Given the description of an element on the screen output the (x, y) to click on. 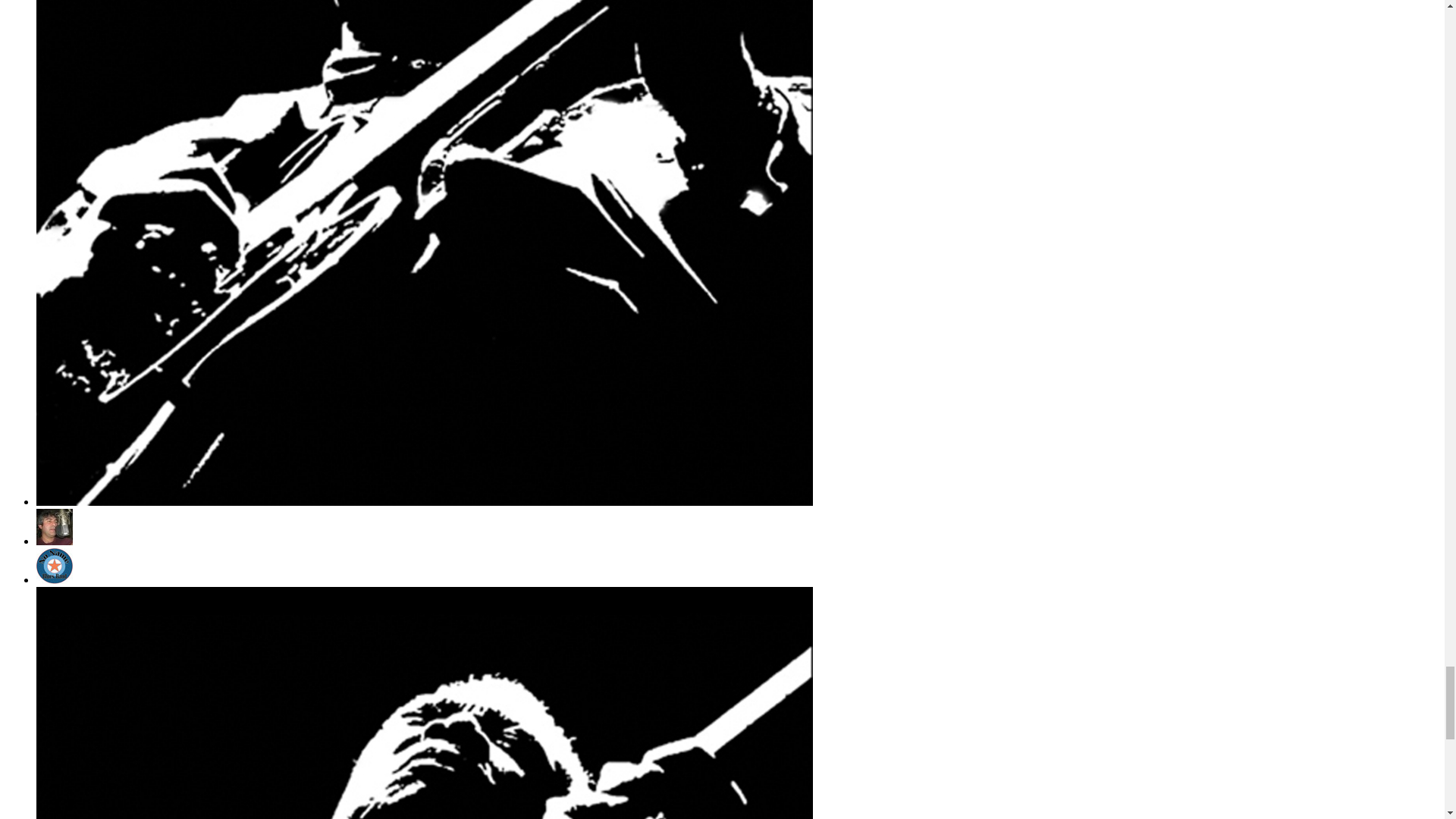
Chris Blues Saltas (54, 540)
Kevin Johnson (424, 501)
No Name Blues Band (54, 579)
